Given the description of an element on the screen output the (x, y) to click on. 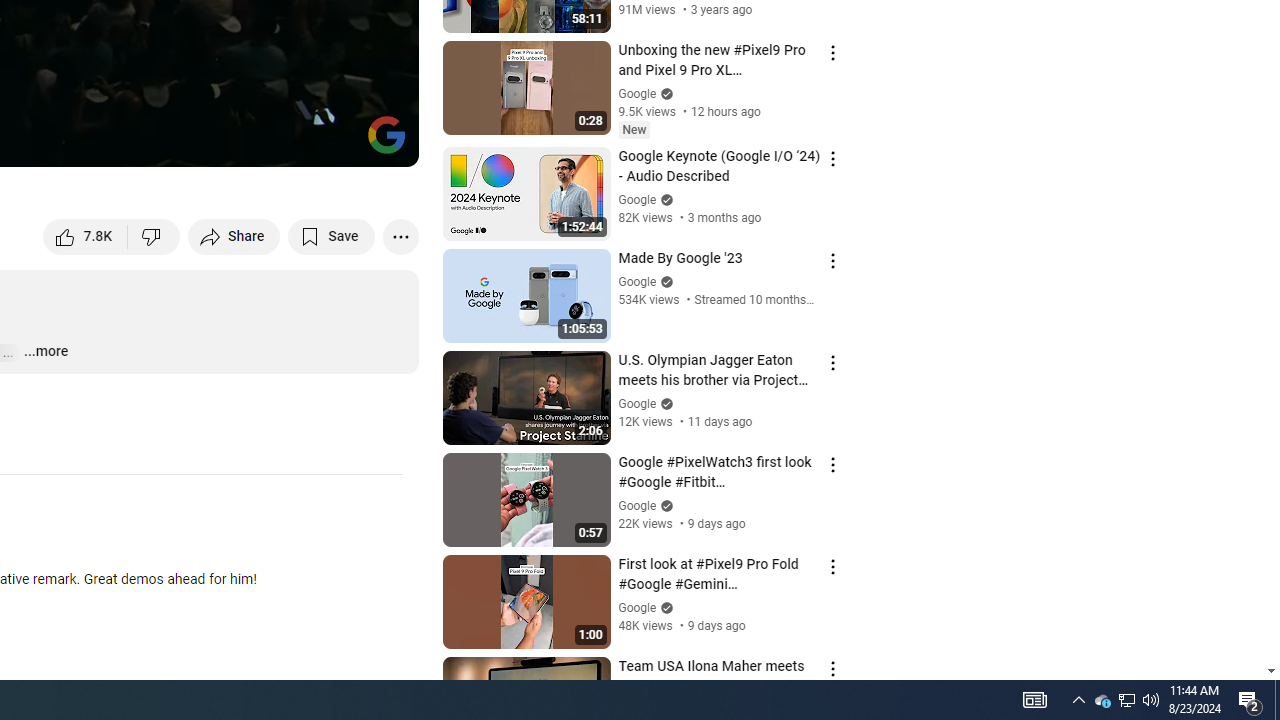
New (634, 129)
Share (234, 236)
Subtitles/closed captions unavailable (190, 142)
Save to playlist (331, 236)
Channel watermark (386, 134)
like this video along with 7,829 other people (86, 236)
Channel watermark (386, 134)
